Given the description of an element on the screen output the (x, y) to click on. 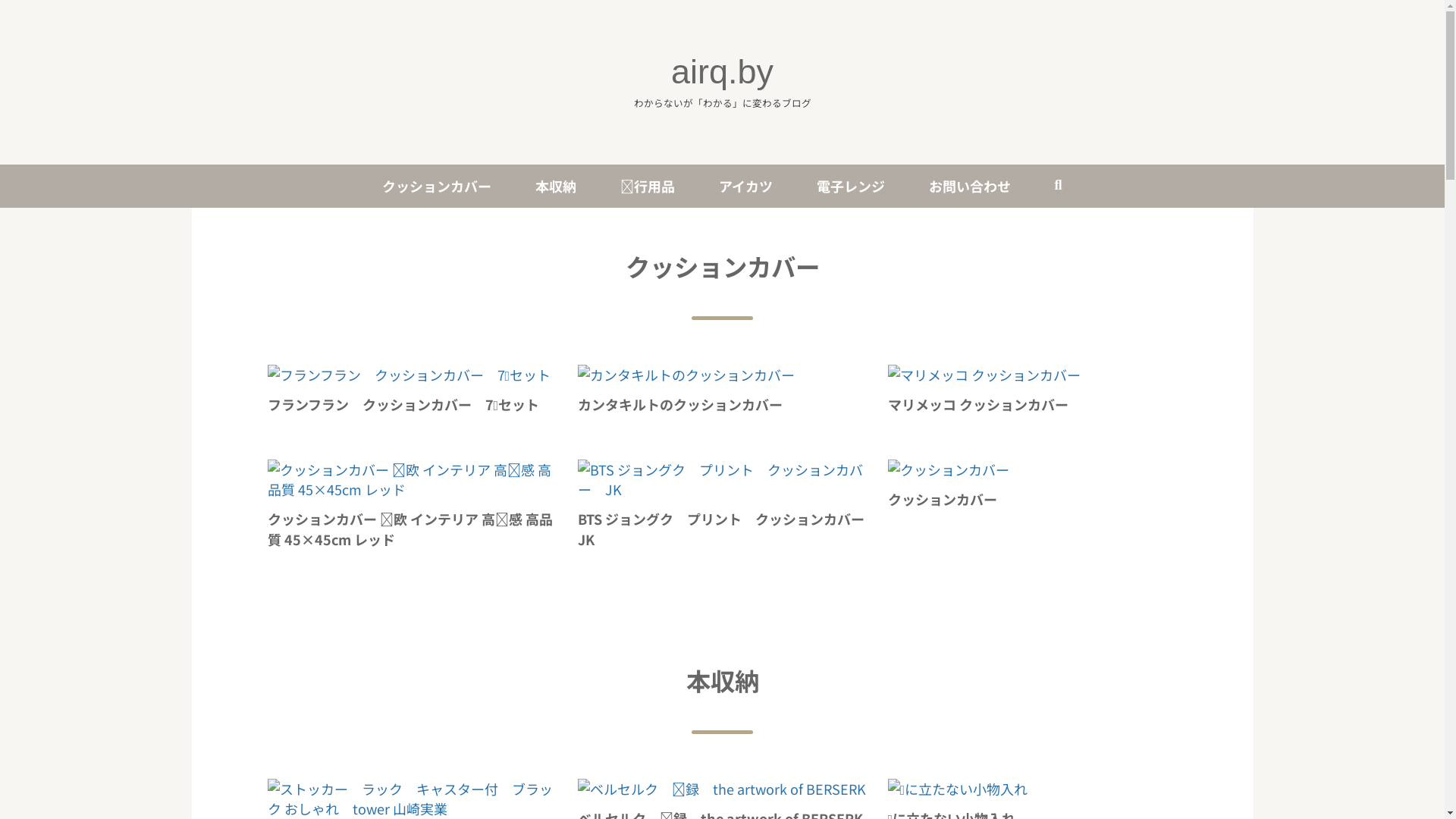
airq.by Element type: text (722, 71)
